Given the description of an element on the screen output the (x, y) to click on. 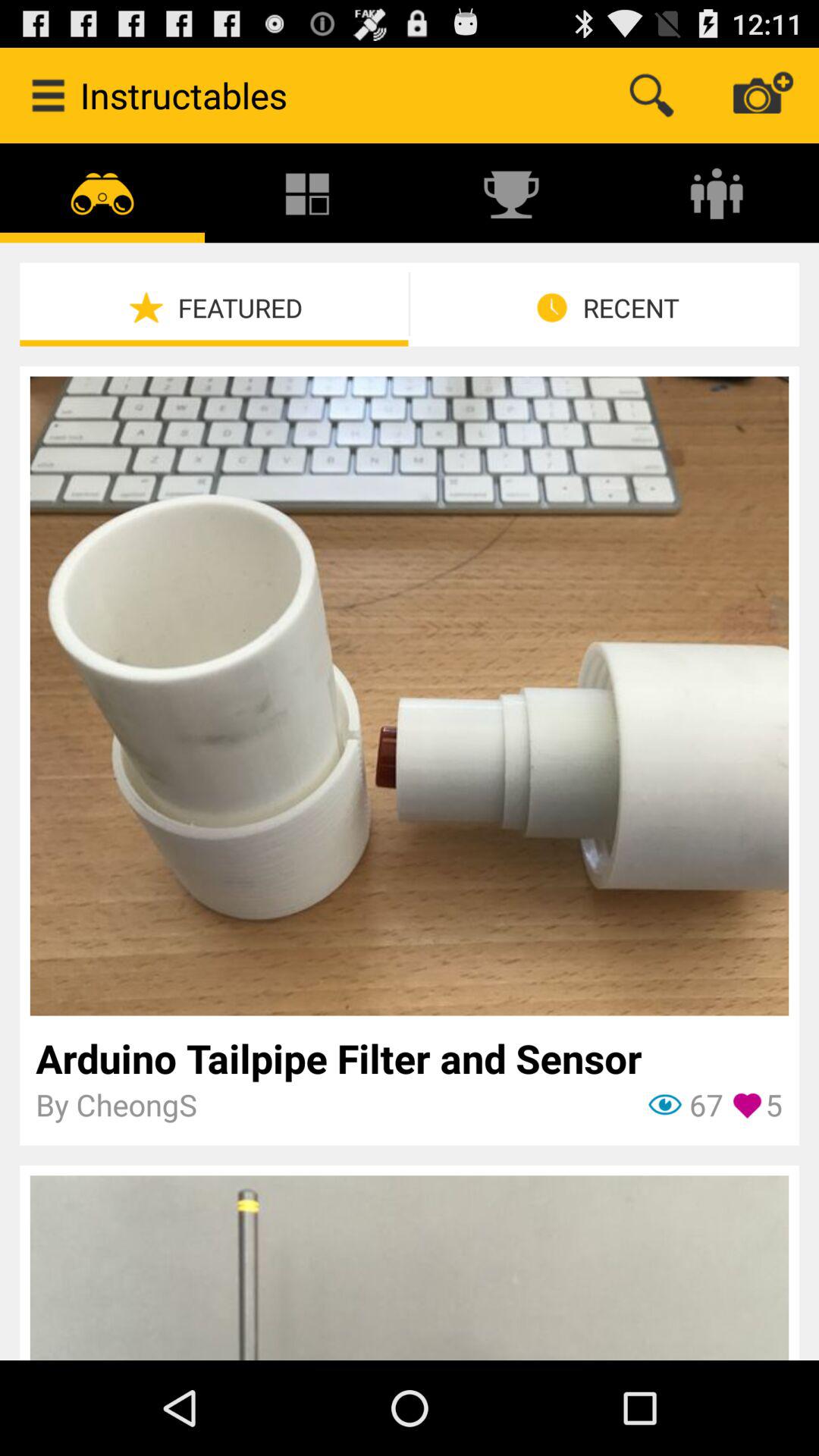
choose the icon above featured item (102, 192)
